Given the description of an element on the screen output the (x, y) to click on. 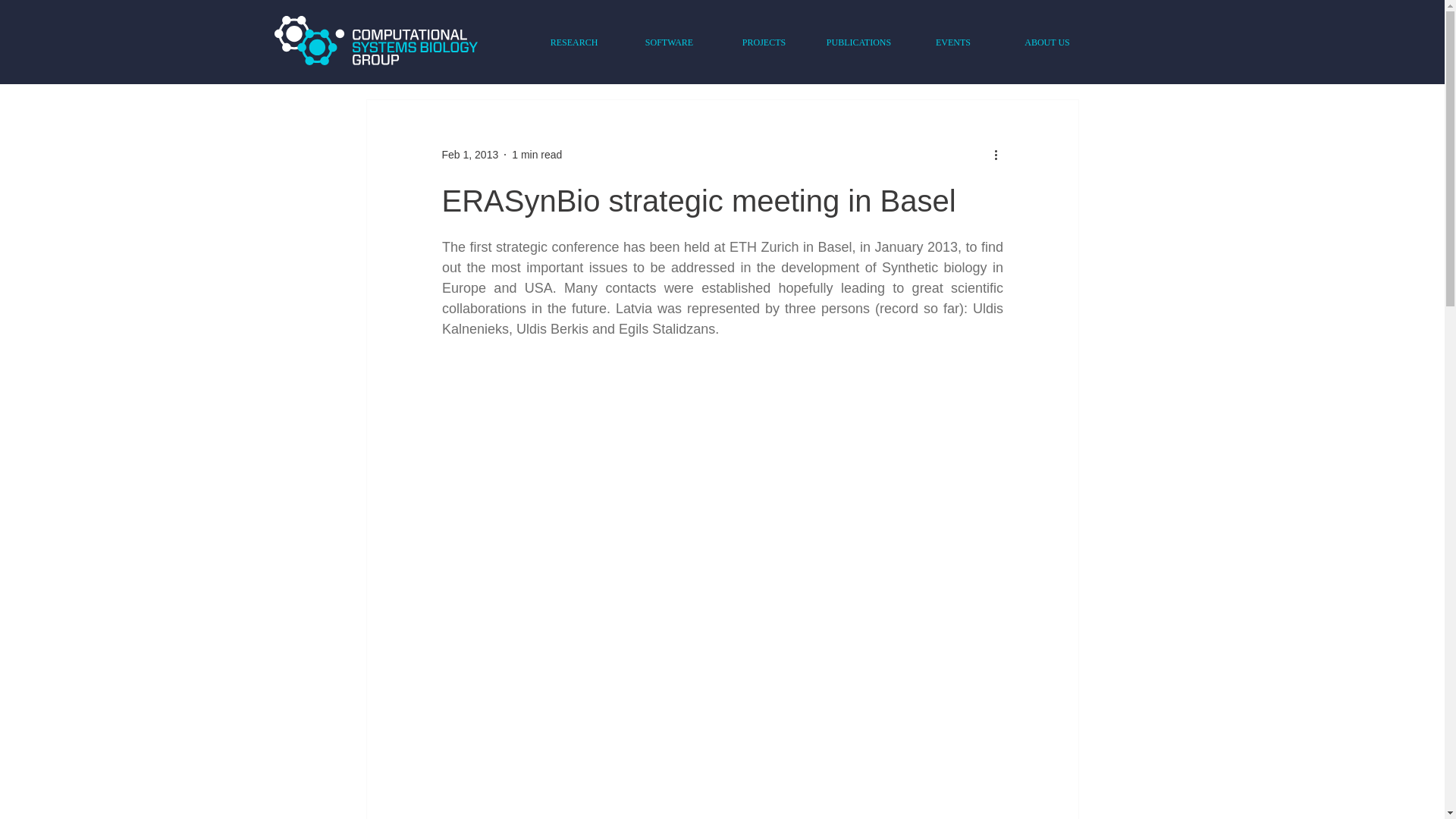
PUBLICATIONS (857, 42)
Feb 1, 2013 (469, 154)
ABOUT US (1045, 42)
PROJECTS (763, 42)
1 min read (537, 154)
